Given the description of an element on the screen output the (x, y) to click on. 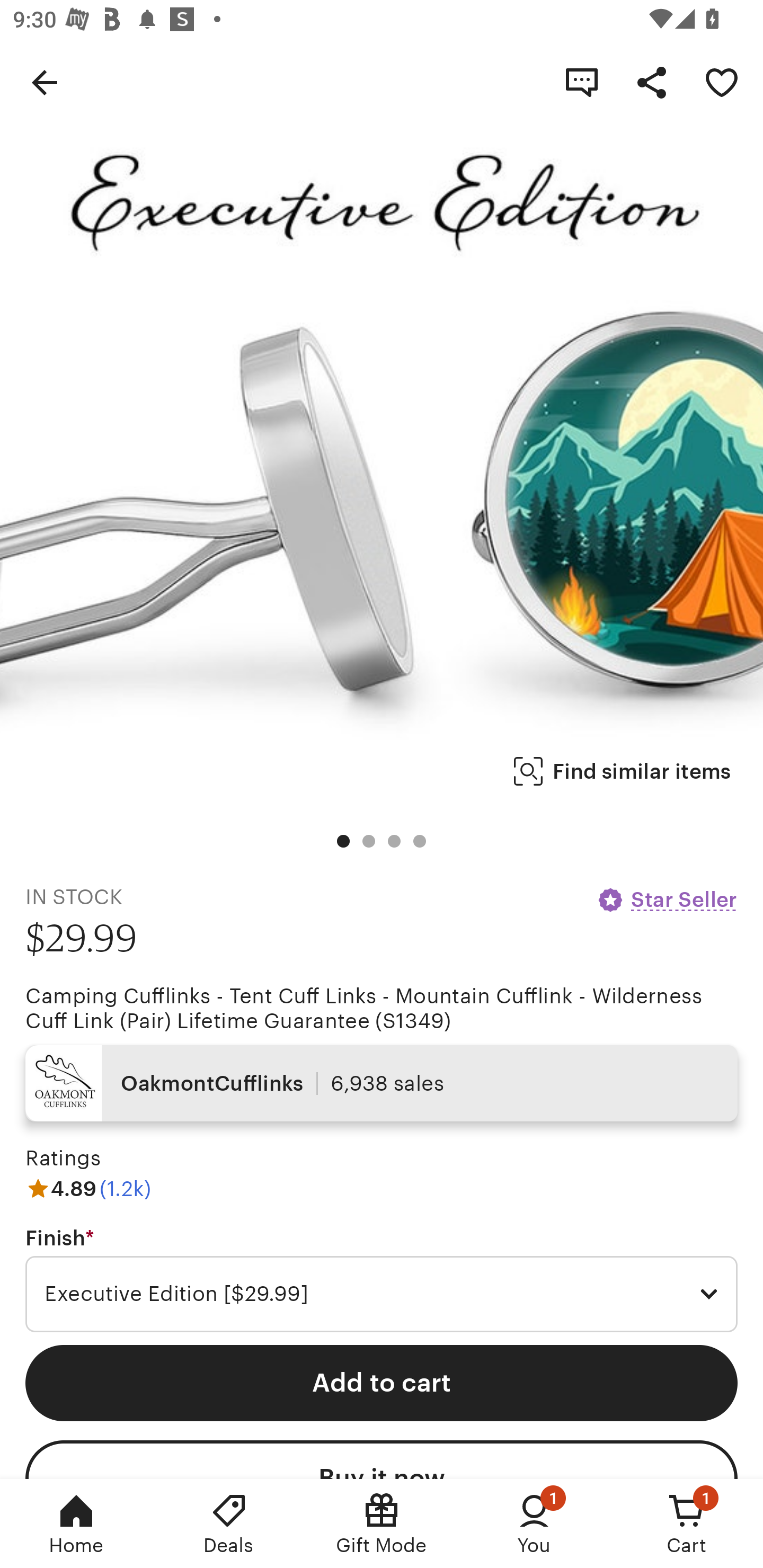
Navigate up (44, 81)
Contact shop (581, 81)
Share (651, 81)
Find similar items (622, 771)
Star Seller (666, 899)
OakmontCufflinks 6,938 sales (381, 1083)
Ratings (62, 1157)
4.89 (1.2k) (88, 1188)
Finish * Required Executive Edition [$29.99] (381, 1279)
Executive Edition [$29.99] (381, 1293)
Add to cart (381, 1382)
Deals (228, 1523)
Gift Mode (381, 1523)
You, 1 new notification You (533, 1523)
Cart, 1 new notification Cart (686, 1523)
